Given the description of an element on the screen output the (x, y) to click on. 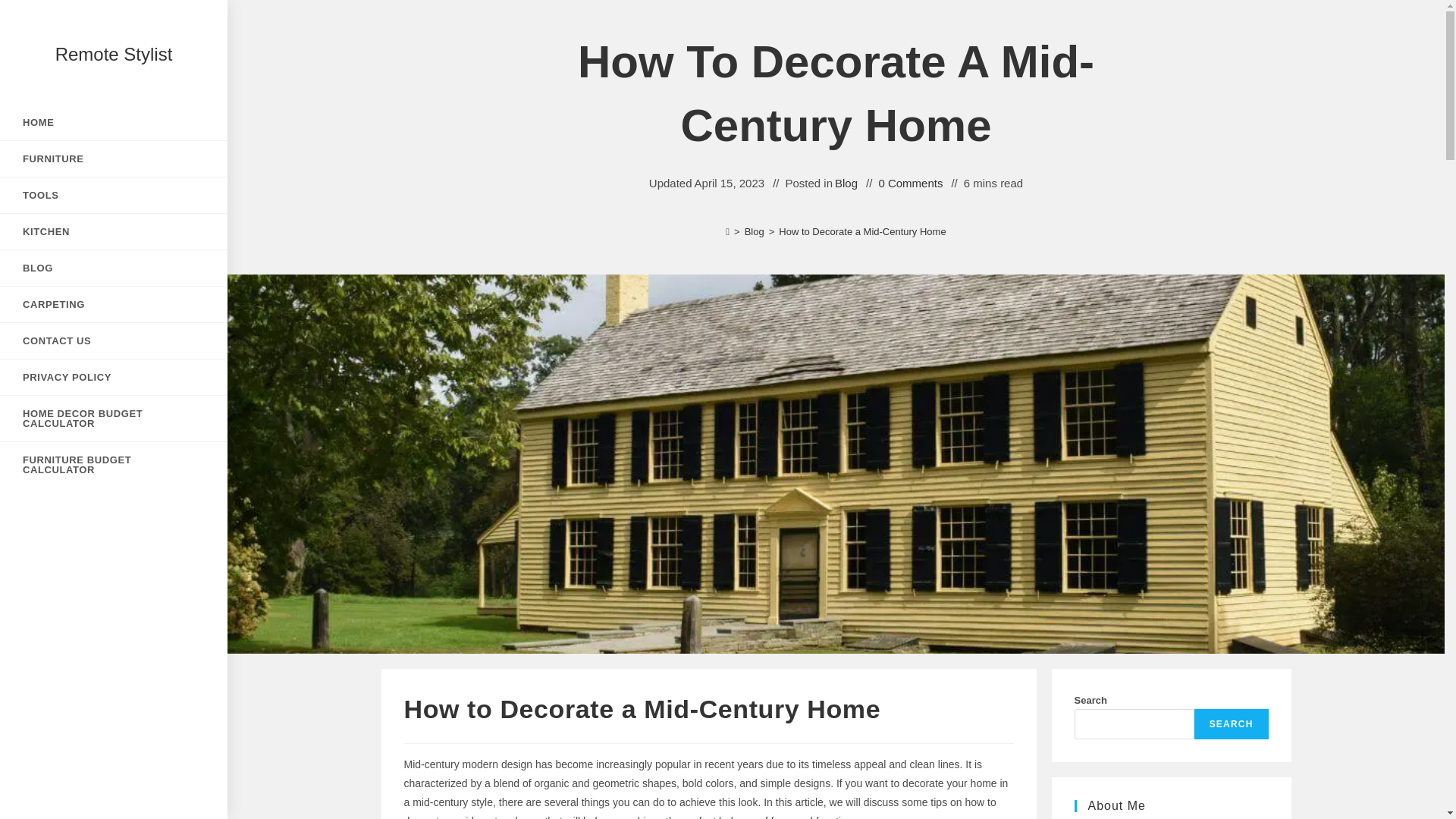
Blog (754, 231)
PRIVACY POLICY (113, 376)
TOOLS (113, 194)
CARPETING (113, 304)
FURNITURE (113, 158)
FURNITURE BUDGET CALCULATOR (113, 464)
Remote Stylist (114, 54)
HOME (113, 122)
0 Comments (909, 182)
